Given the description of an element on the screen output the (x, y) to click on. 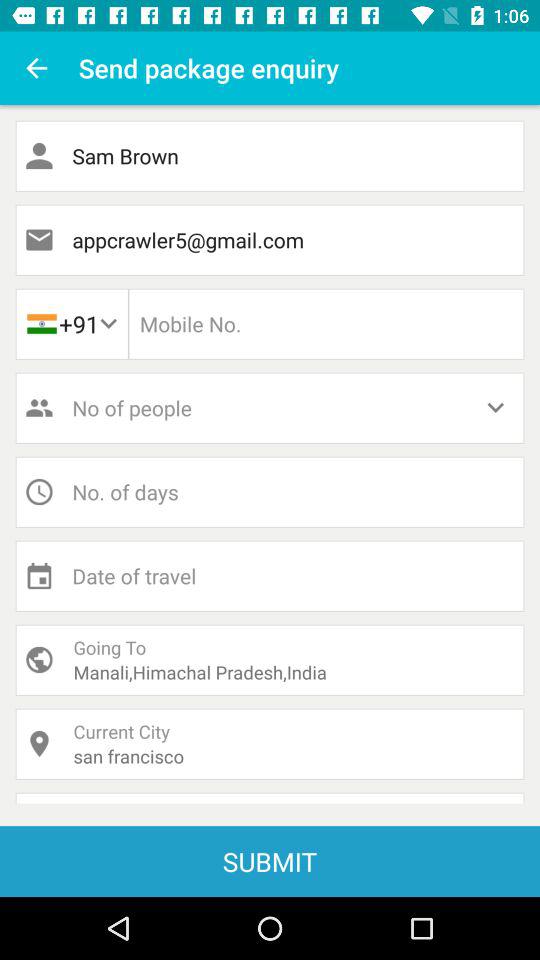
select the date of travel (269, 576)
select middle left of page account icon (34, 407)
click on the drop down which is beside no of people (505, 407)
